Given the description of an element on the screen output the (x, y) to click on. 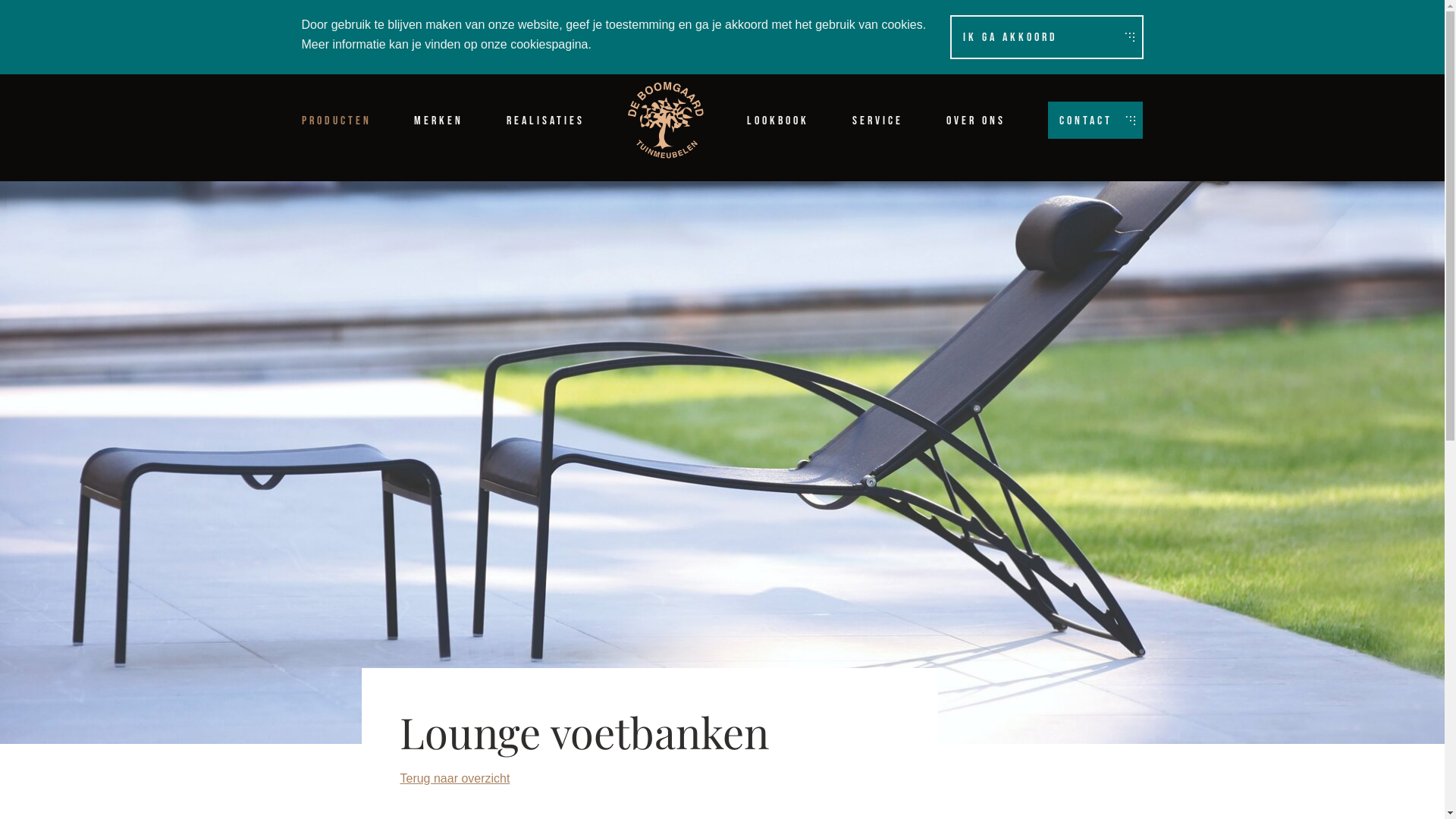
Producten Element type: text (336, 120)
Merken Element type: text (438, 120)
Terug naar overzicht Element type: text (649, 778)
Ik ga akkoord Element type: text (1045, 37)
Contact Element type: text (1095, 119)
Realisaties Element type: text (545, 120)
Over ons Element type: text (975, 120)
Service Element type: text (877, 120)
Lookbook Element type: text (777, 120)
cookiespagina. Element type: text (550, 43)
